Given the description of an element on the screen output the (x, y) to click on. 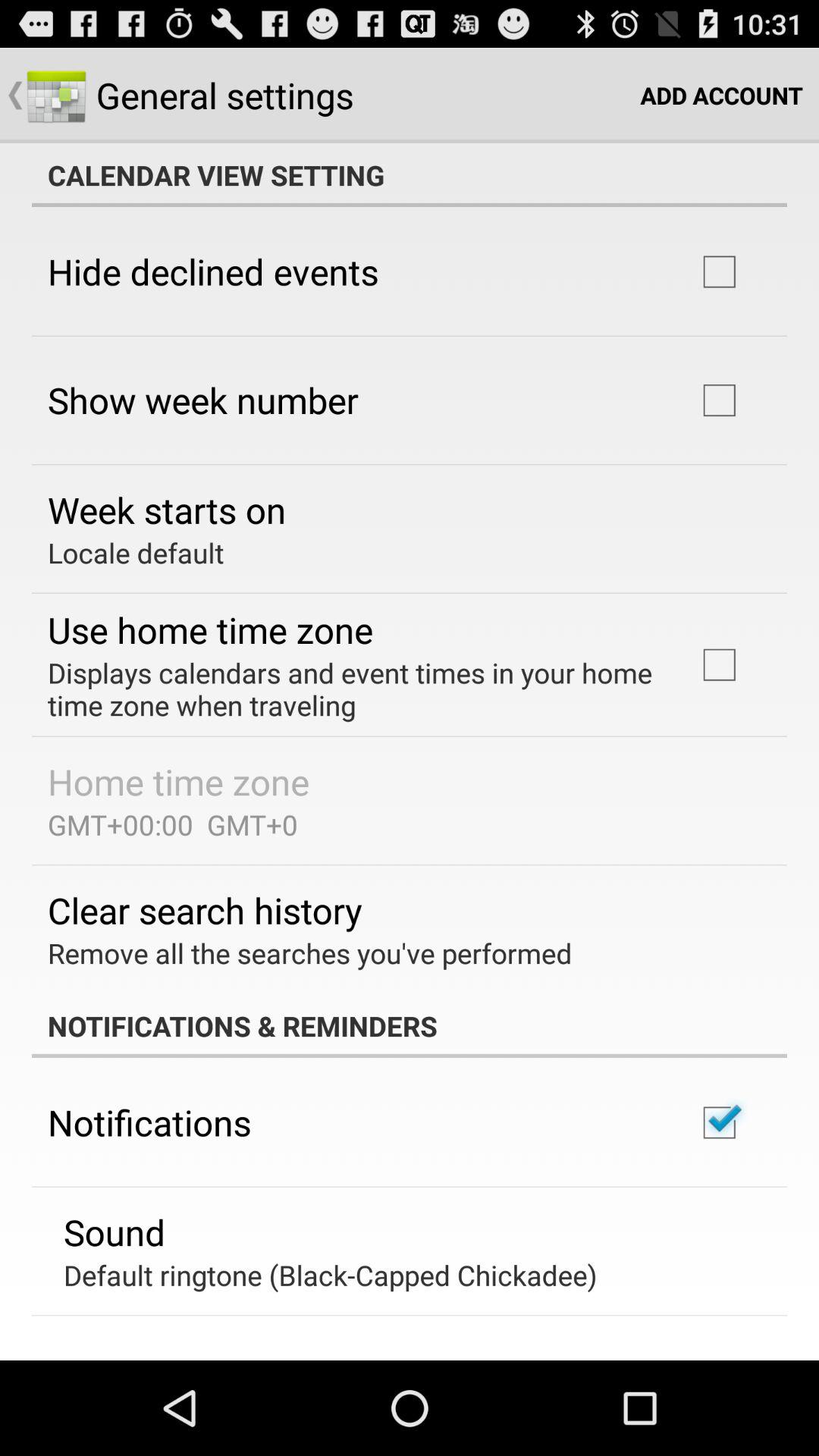
turn on displays calendars and app (351, 689)
